Given the description of an element on the screen output the (x, y) to click on. 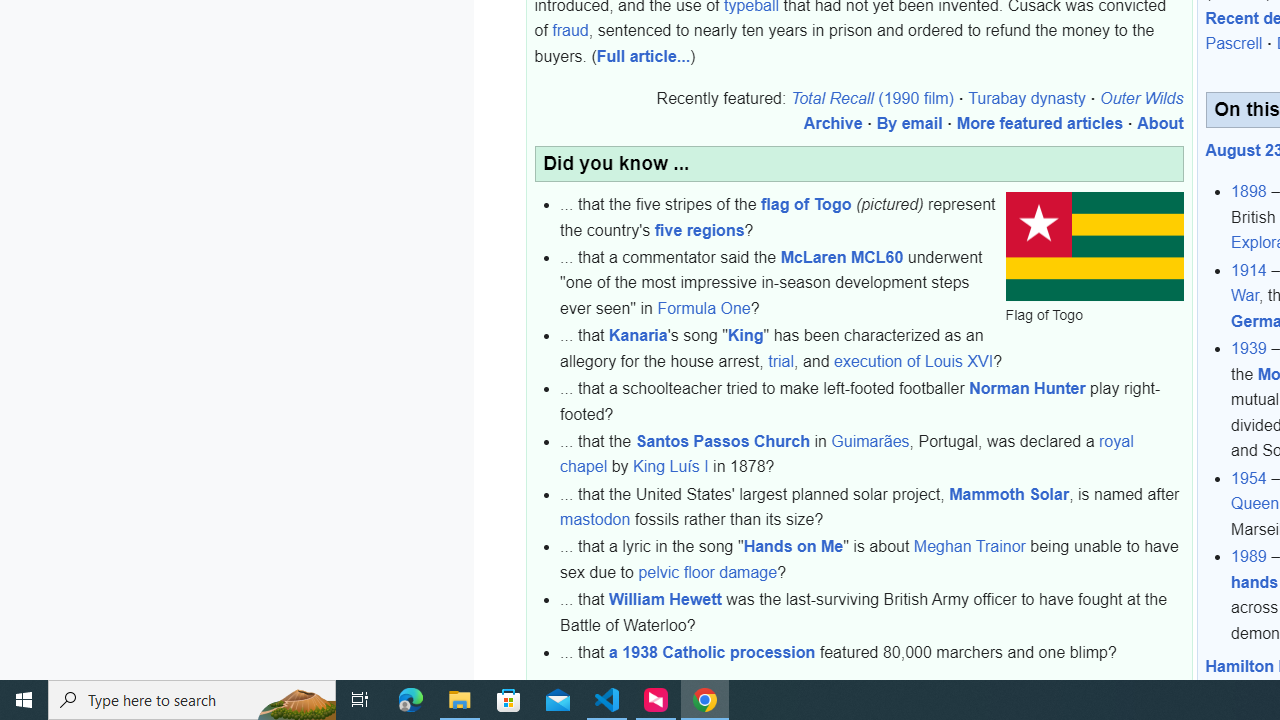
Archive (840, 685)
King (746, 335)
Flag of Togo (1094, 247)
1914 (1249, 269)
five regions (699, 230)
Meghan Trainor (969, 546)
Mammoth Solar (1009, 494)
More featured articles (1039, 124)
Santos Passos Church (722, 441)
William Hewett (665, 600)
Turabay dynasty (1026, 98)
